Given the description of an element on the screen output the (x, y) to click on. 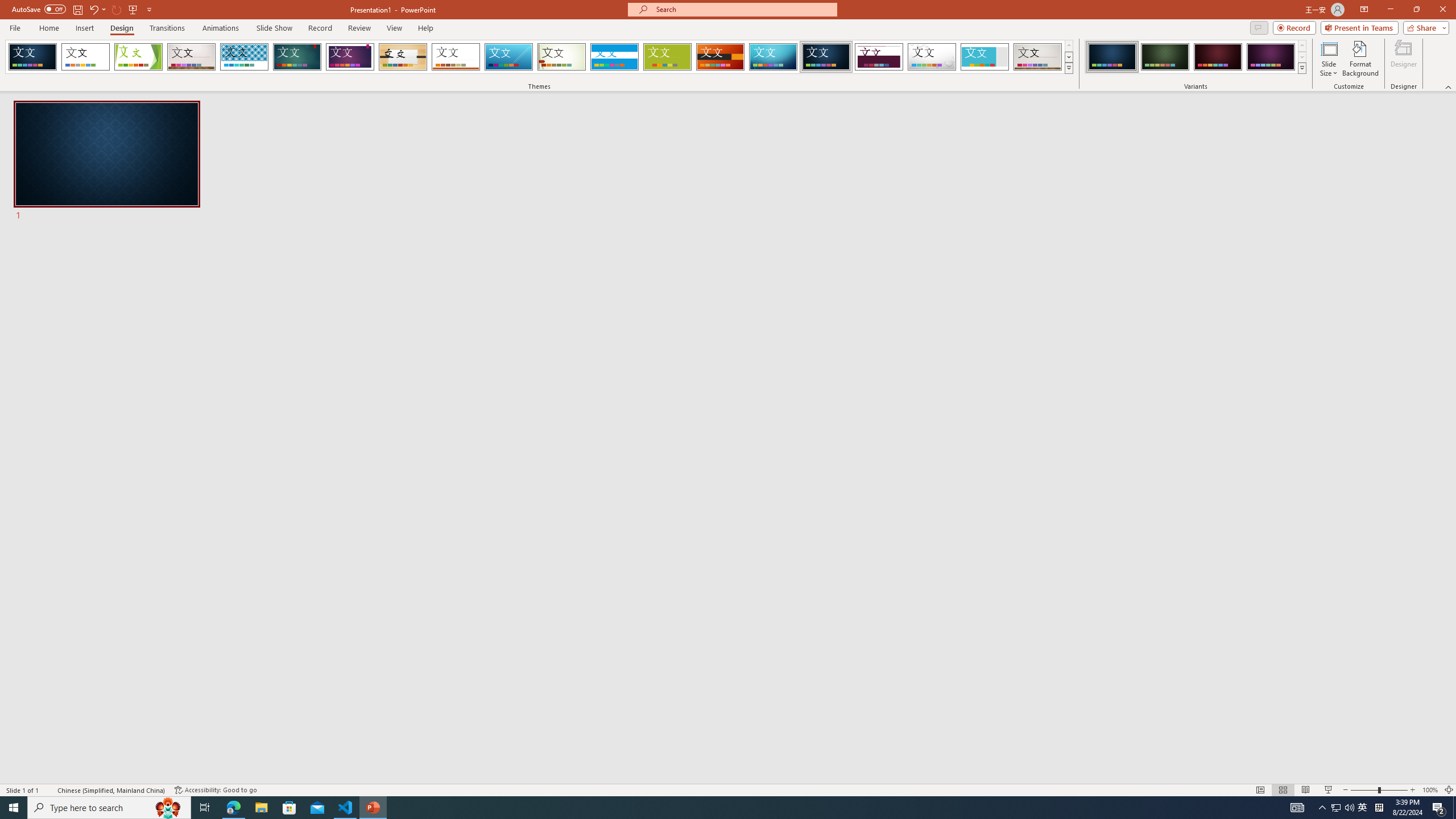
Ion Loading Preview... (296, 56)
Dividend Loading Preview... (879, 56)
Basis Loading Preview... (667, 56)
Organic Loading Preview... (403, 56)
Format Background (1360, 58)
AutomationID: ThemeVariantsGallery (1195, 56)
Wisp Loading Preview... (561, 56)
Retrospect Loading Preview... (455, 56)
